Given the description of an element on the screen output the (x, y) to click on. 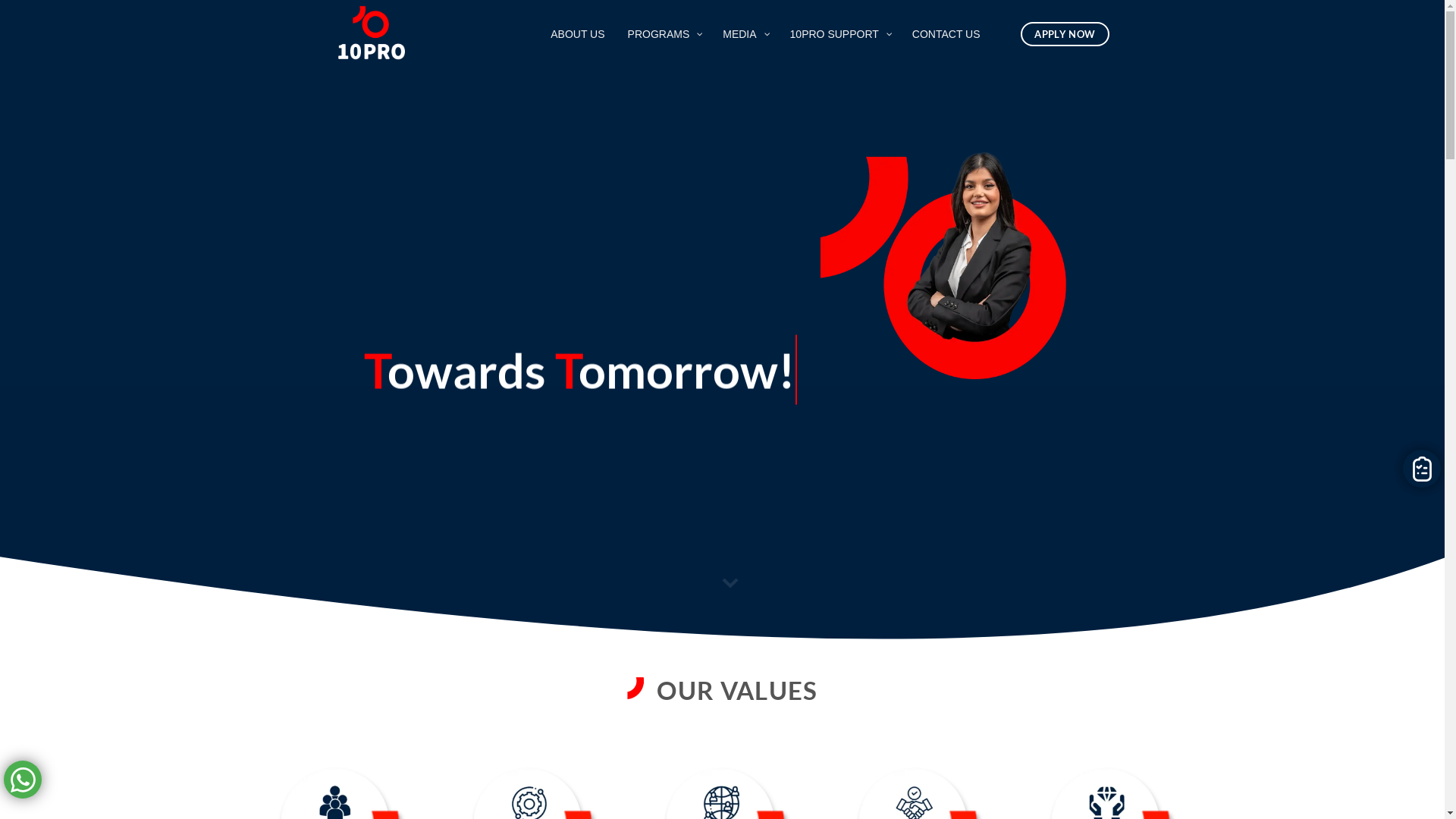
APPLY NOW Element type: text (1064, 34)
CONTACT US Element type: text (945, 33)
PROGRAMS Element type: text (664, 33)
MEDIA Element type: text (744, 33)
ABOUT US Element type: text (577, 33)
10PRO SUPPORT Element type: text (839, 33)
